Given the description of an element on the screen output the (x, y) to click on. 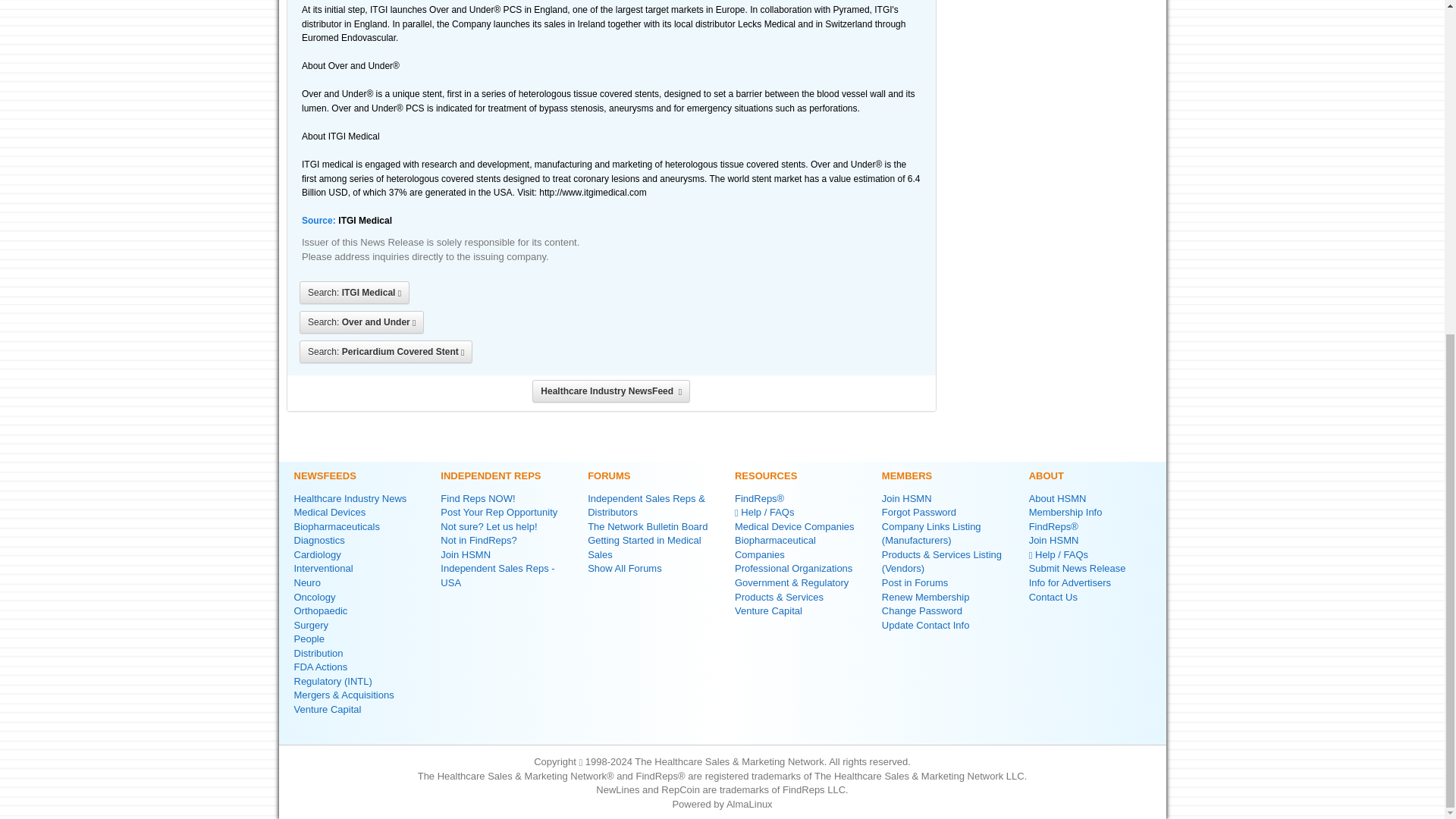
Advertisement (1054, 215)
